Given the description of an element on the screen output the (x, y) to click on. 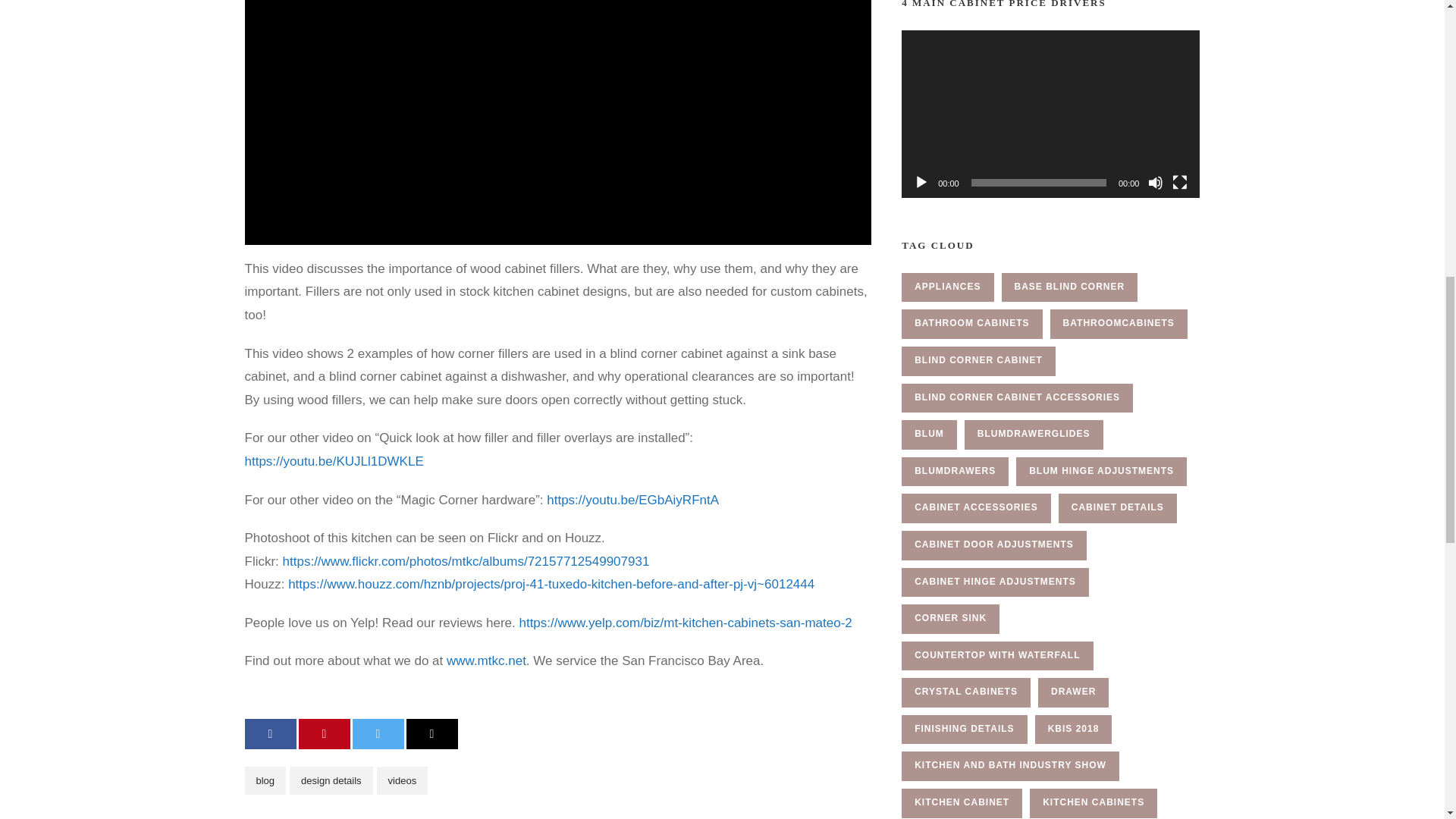
Fullscreen (1180, 182)
videos (402, 780)
Mute (1155, 182)
design details (330, 780)
blog (264, 780)
www.mtkc.net (485, 660)
Play (921, 182)
